Given the description of an element on the screen output the (x, y) to click on. 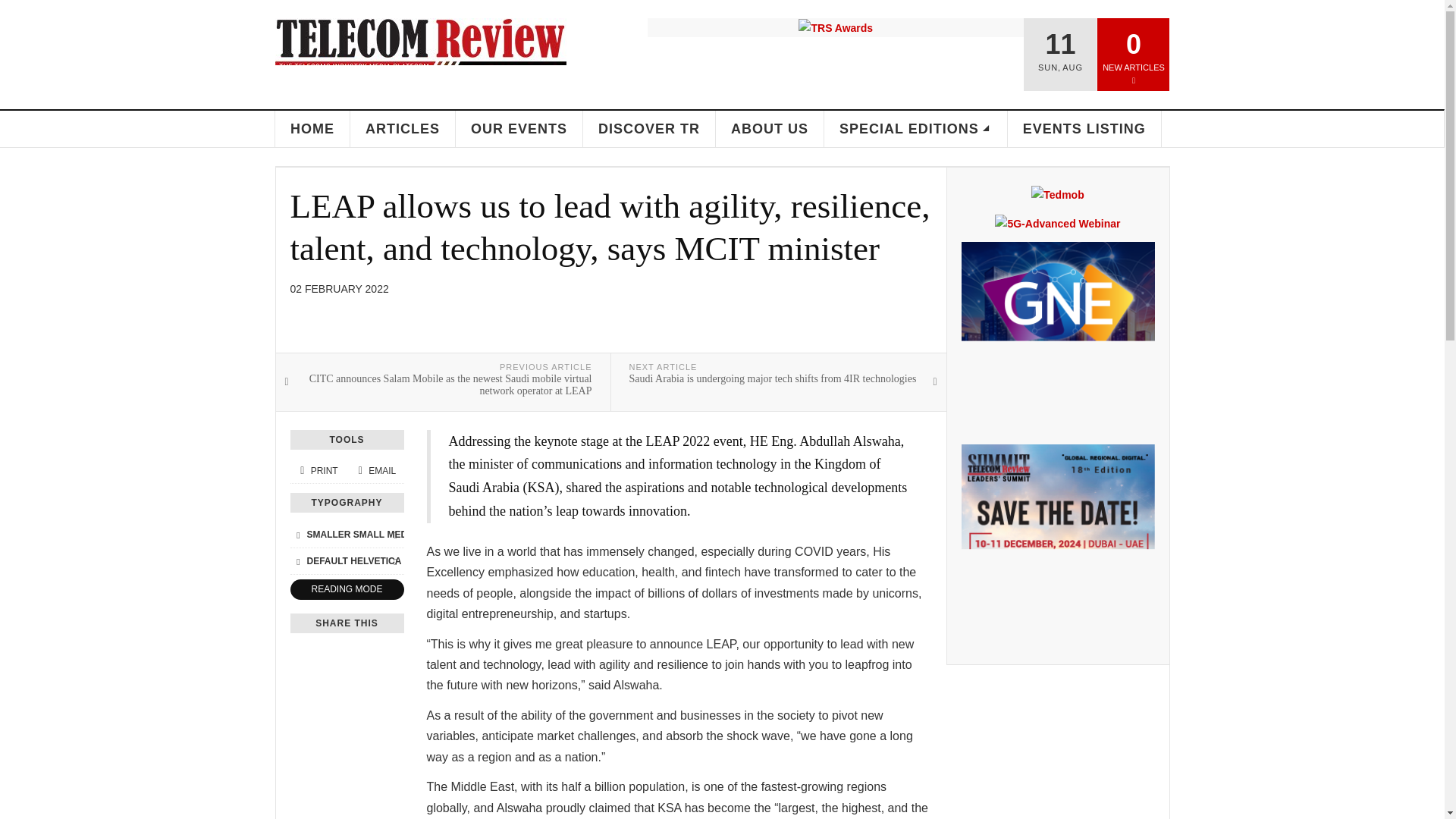
Print (318, 470)
Telecom Review (420, 54)
Published:  (338, 288)
2024 07 TRS Awards Top WB (835, 27)
2024 08 Tedmob WB (1057, 194)
2024 03 TRS WB (1057, 541)
Next Font Style (395, 560)
Smaller Font (297, 534)
Previous Font Style (297, 560)
